Given the description of an element on the screen output the (x, y) to click on. 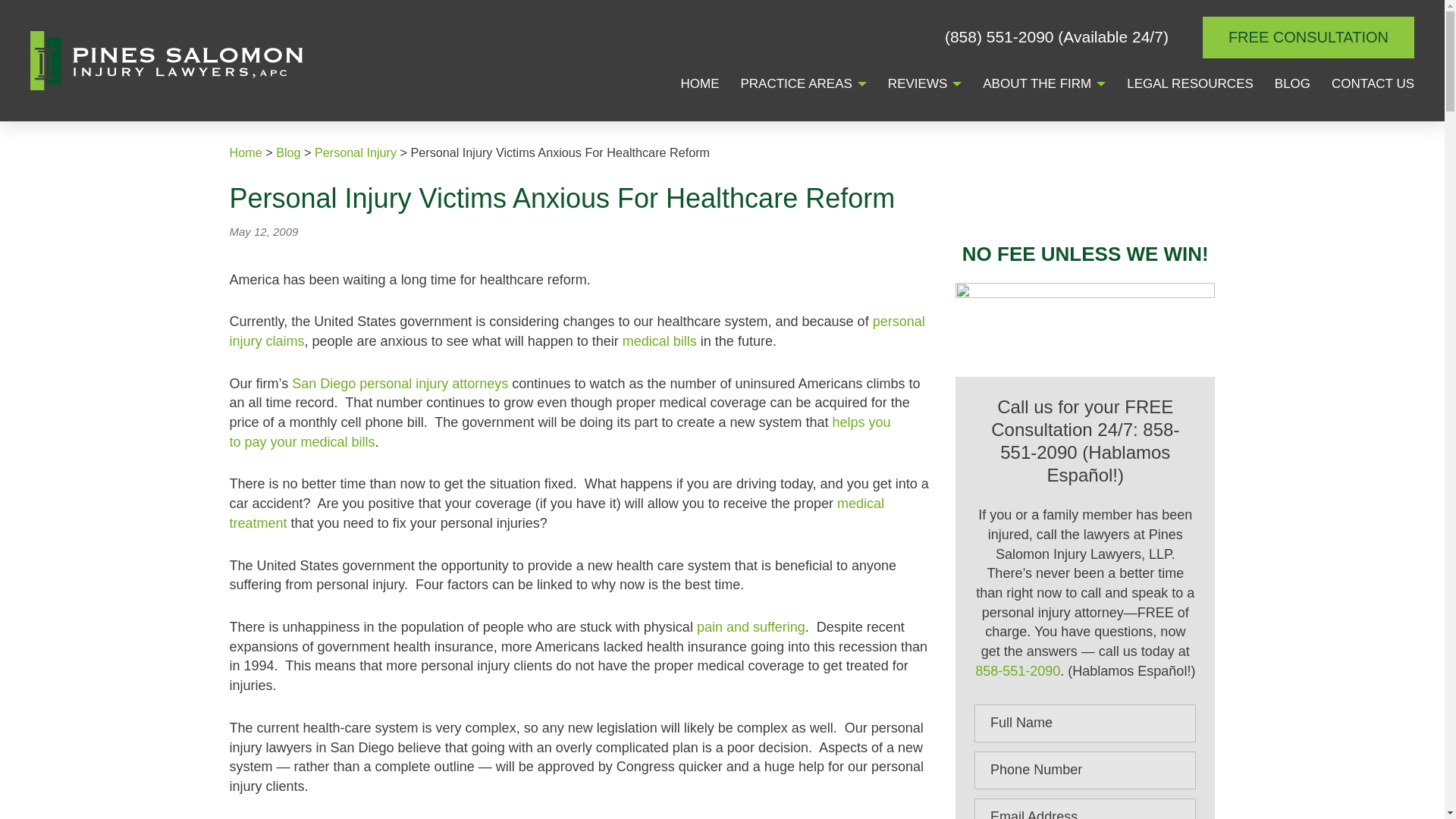
PRACTICE AREAS (795, 85)
Go to Blog. (287, 151)
Go to Pines Salomon Injury Lawyers, LLP. (245, 151)
FREE CONSULTATION (1307, 37)
Go to the Personal Injury Category archives. (355, 151)
